Given the description of an element on the screen output the (x, y) to click on. 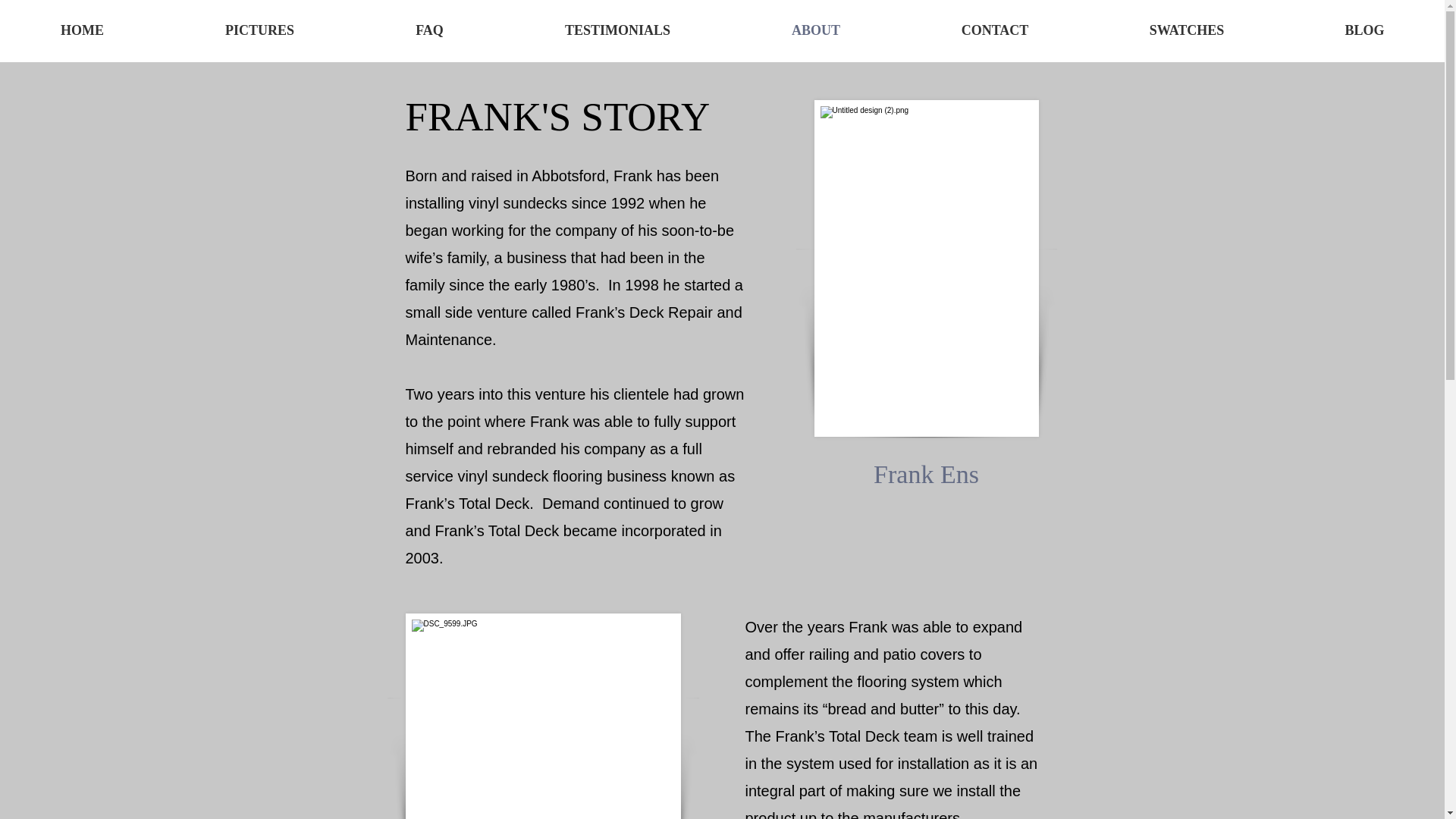
PICTURES (259, 30)
ABOUT (815, 30)
CONTACT (995, 30)
TESTIMONIALS (616, 30)
FAQ (429, 30)
HOME (82, 30)
SWATCHES (1186, 30)
